Given the description of an element on the screen output the (x, y) to click on. 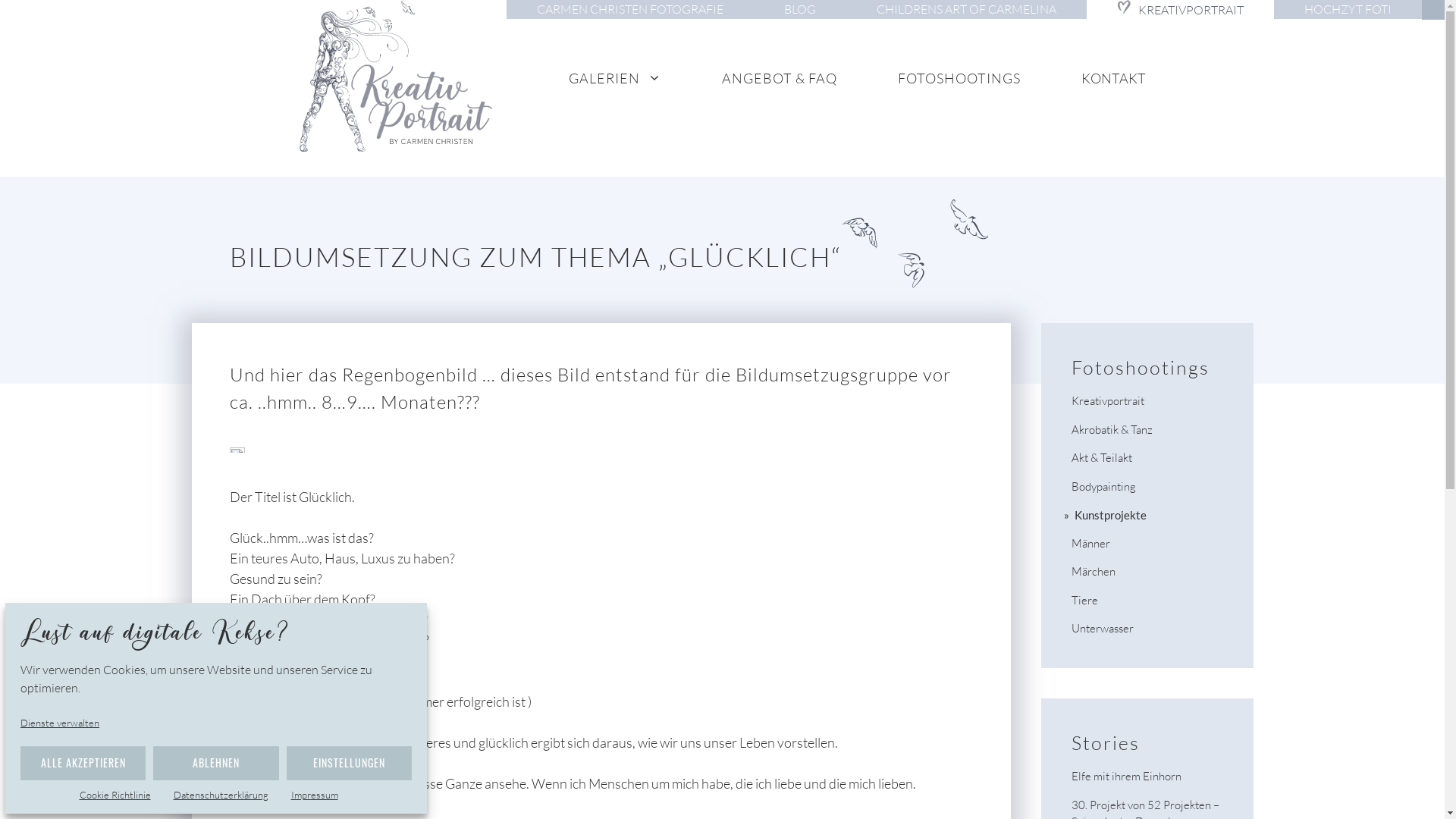
Dienste verwalten Element type: text (67, 723)
ANGEBOT & FAQ Element type: text (779, 77)
Cookie Richtlinie Element type: text (121, 794)
CHILDRENS ART OF CARMELINA Element type: text (966, 9)
Impressum Element type: text (322, 794)
GALERIEN Element type: text (614, 77)
KONTAKT Element type: text (1113, 77)
HOCHZYT FOTI Element type: text (1347, 9)
KREATIVPORTRAIT Element type: text (1180, 9)
Akt & Teilakt Element type: text (1100, 457)
Akrobatik & Tanz Element type: text (1110, 428)
FOTOSHOOTINGS Element type: text (959, 77)
Carmen Christen Fotografie Element type: hover (402, 75)
ALLE AKZEPTIEREN Element type: text (82, 763)
ABLEHNEN Element type: text (215, 763)
CARMEN CHRISTEN FOTOGRAFIE Element type: text (629, 9)
Elfe mit ihrem Einhorn Element type: text (1125, 775)
Kreativportrait Element type: text (1106, 400)
BLOG Element type: text (799, 9)
Bodypainting Element type: text (1102, 486)
Unterwasser Element type: text (1101, 628)
Tiere Element type: text (1083, 600)
Kunstprojekte Element type: text (1109, 514)
EINSTELLUNGEN Element type: text (348, 763)
